Given the description of an element on the screen output the (x, y) to click on. 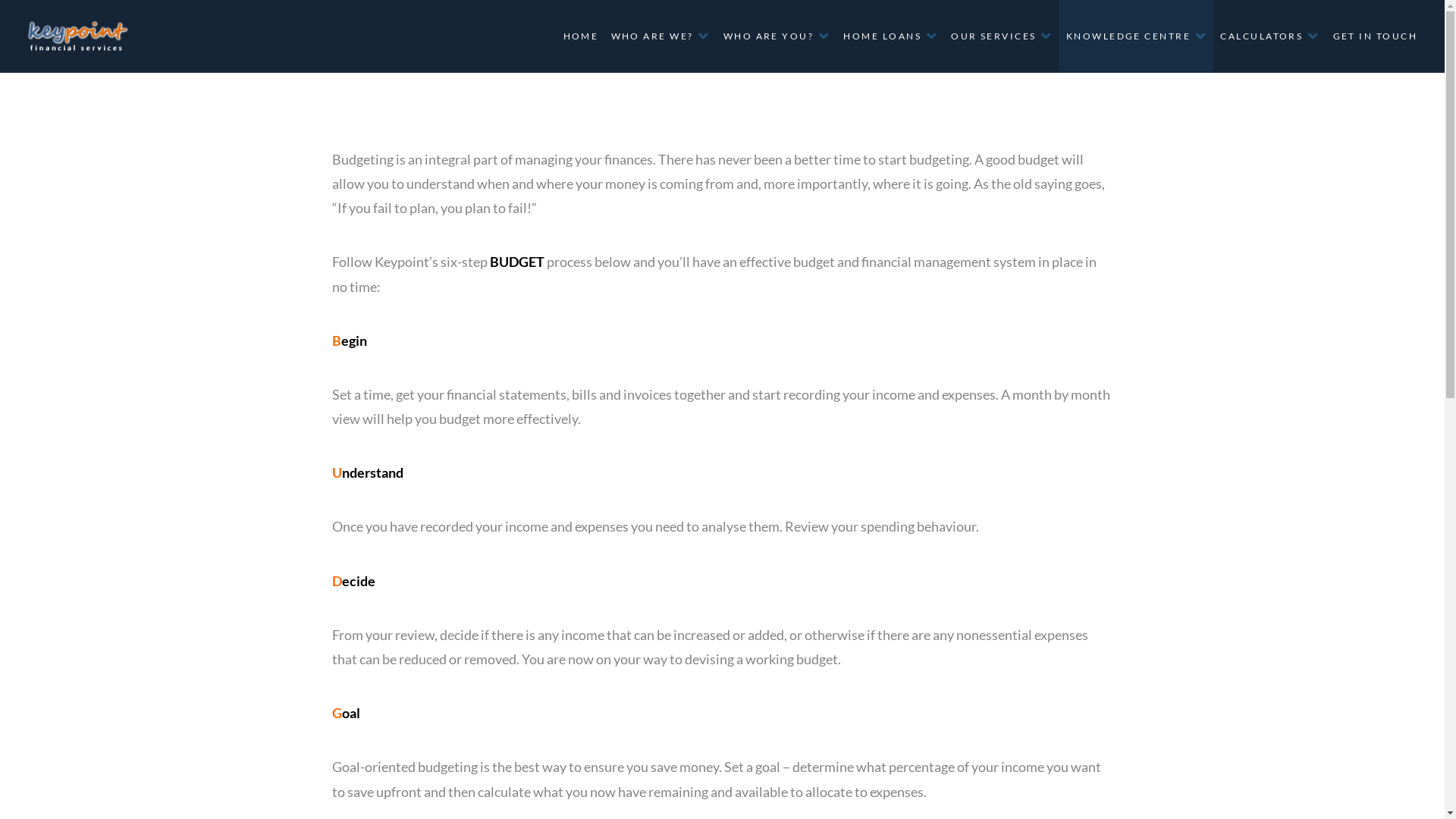
HOME LOANS Element type: text (890, 36)
WHO ARE YOU? Element type: text (775, 36)
OUR SERVICES Element type: text (1001, 36)
KNOWLEDGE CENTRE Element type: text (1135, 36)
WHO ARE WE? Element type: text (659, 36)
CALCULATORS Element type: text (1269, 36)
HOME Element type: text (579, 36)
GET IN TOUCH Element type: text (1373, 36)
